Given the description of an element on the screen output the (x, y) to click on. 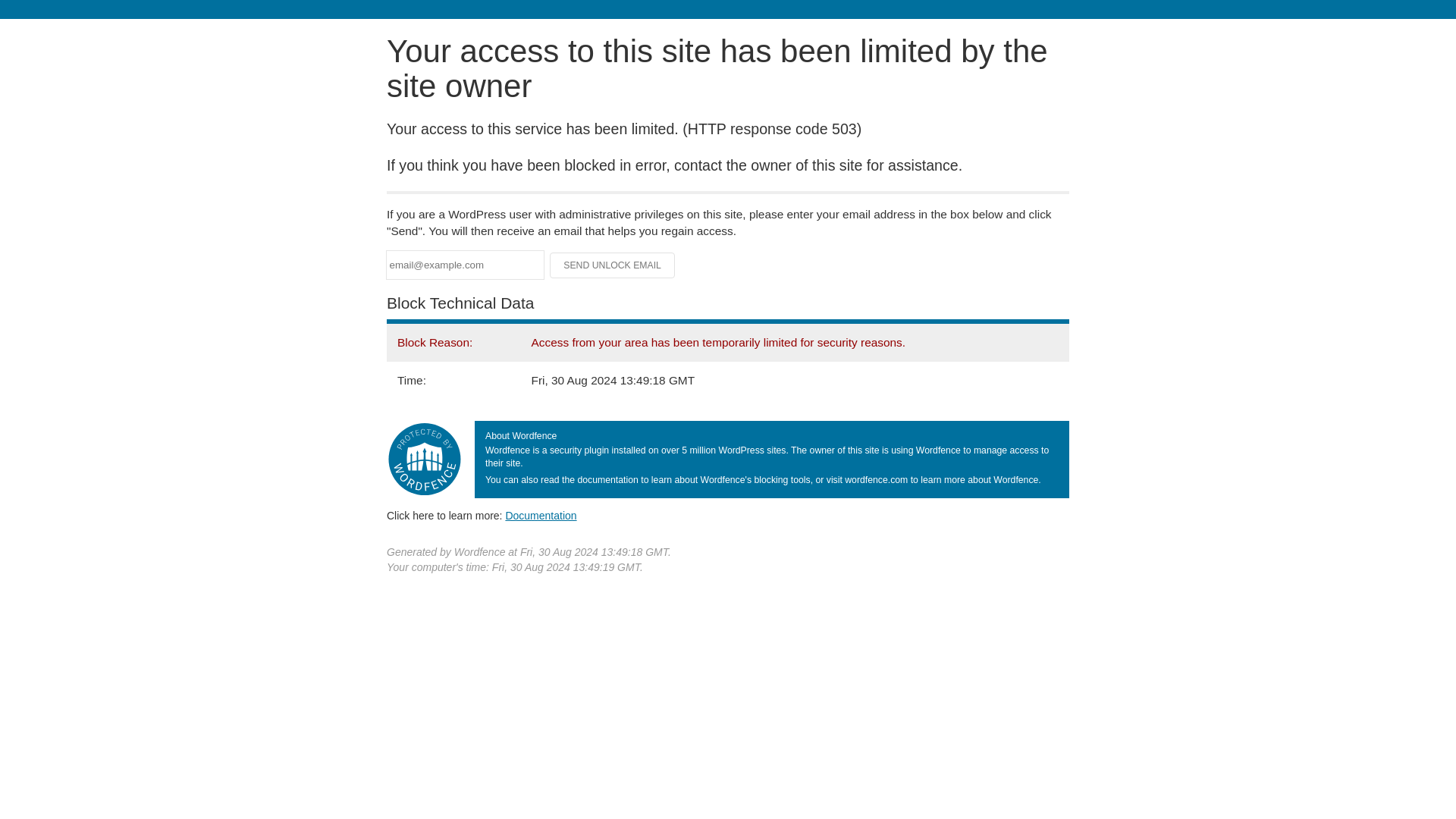
Documentation (540, 515)
Send Unlock Email (612, 265)
Send Unlock Email (612, 265)
